Given the description of an element on the screen output the (x, y) to click on. 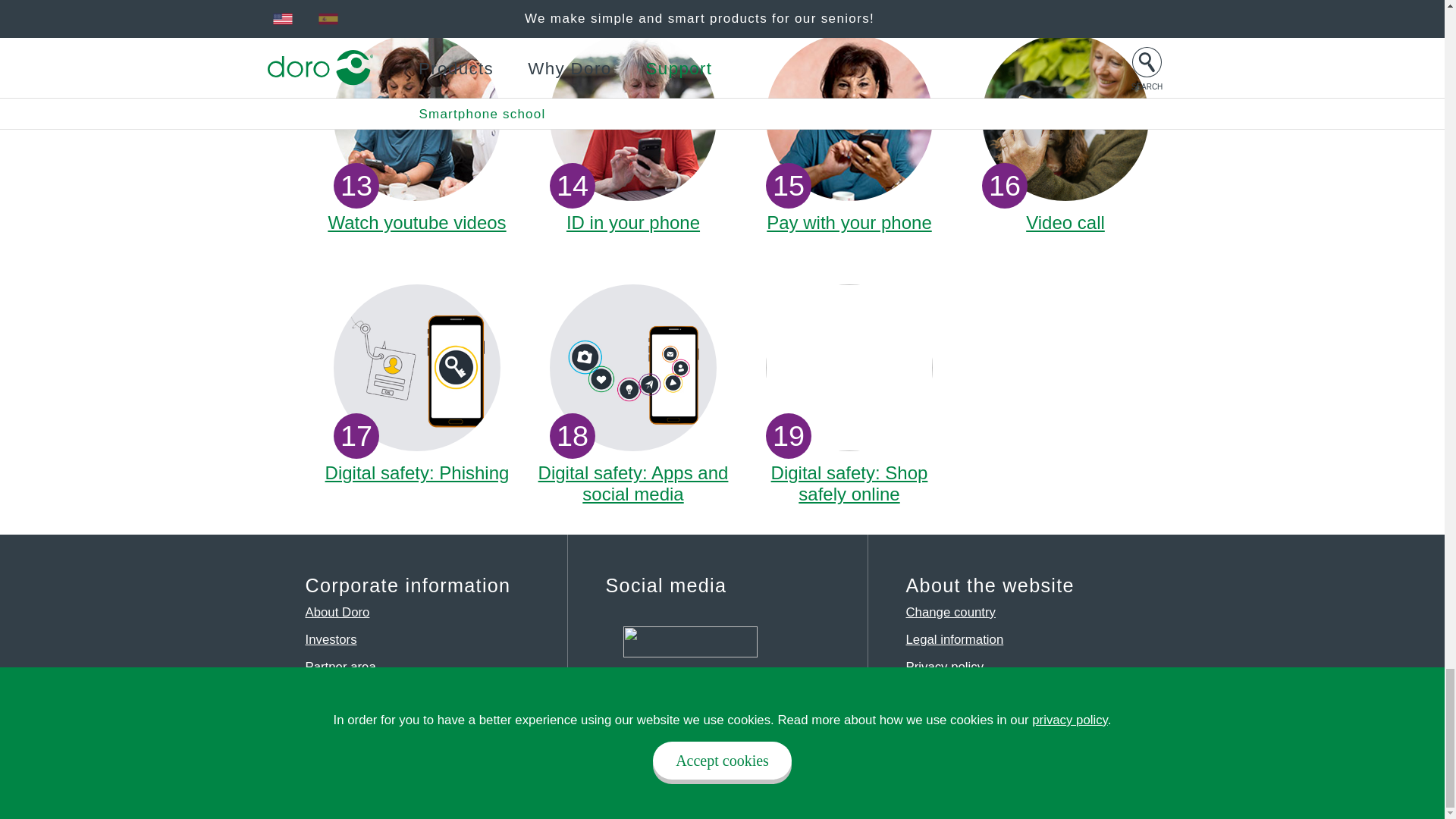
About Doro (632, 133)
Partner area (336, 612)
Investors (632, 394)
